Given the description of an element on the screen output the (x, y) to click on. 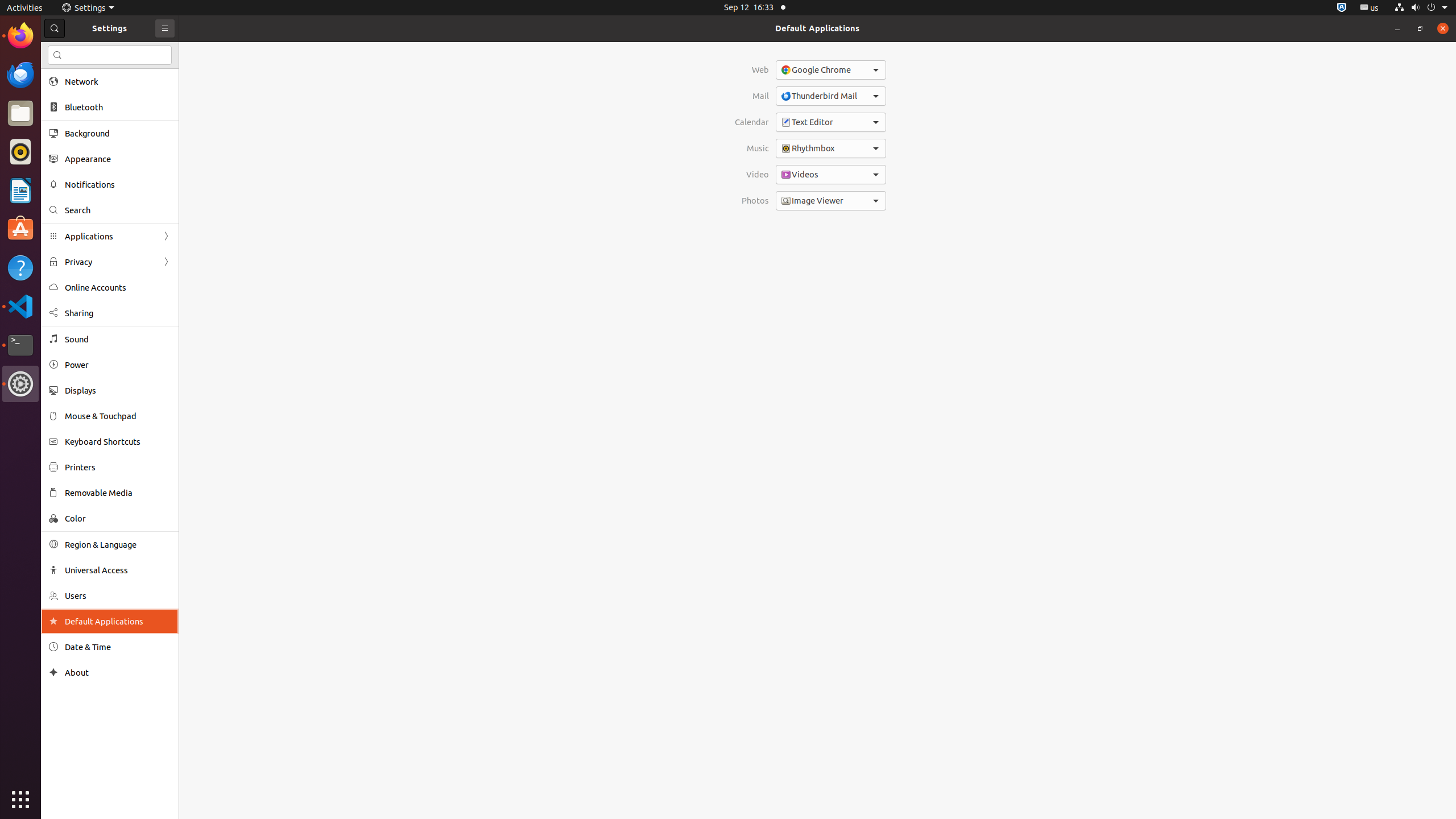
edit-find-symbolic Element type: icon (56, 54)
Universal Access Element type: label (117, 570)
Notifications Element type: label (117, 184)
Bluetooth Element type: label (117, 107)
Search Element type: text (109, 54)
